Given the description of an element on the screen output the (x, y) to click on. 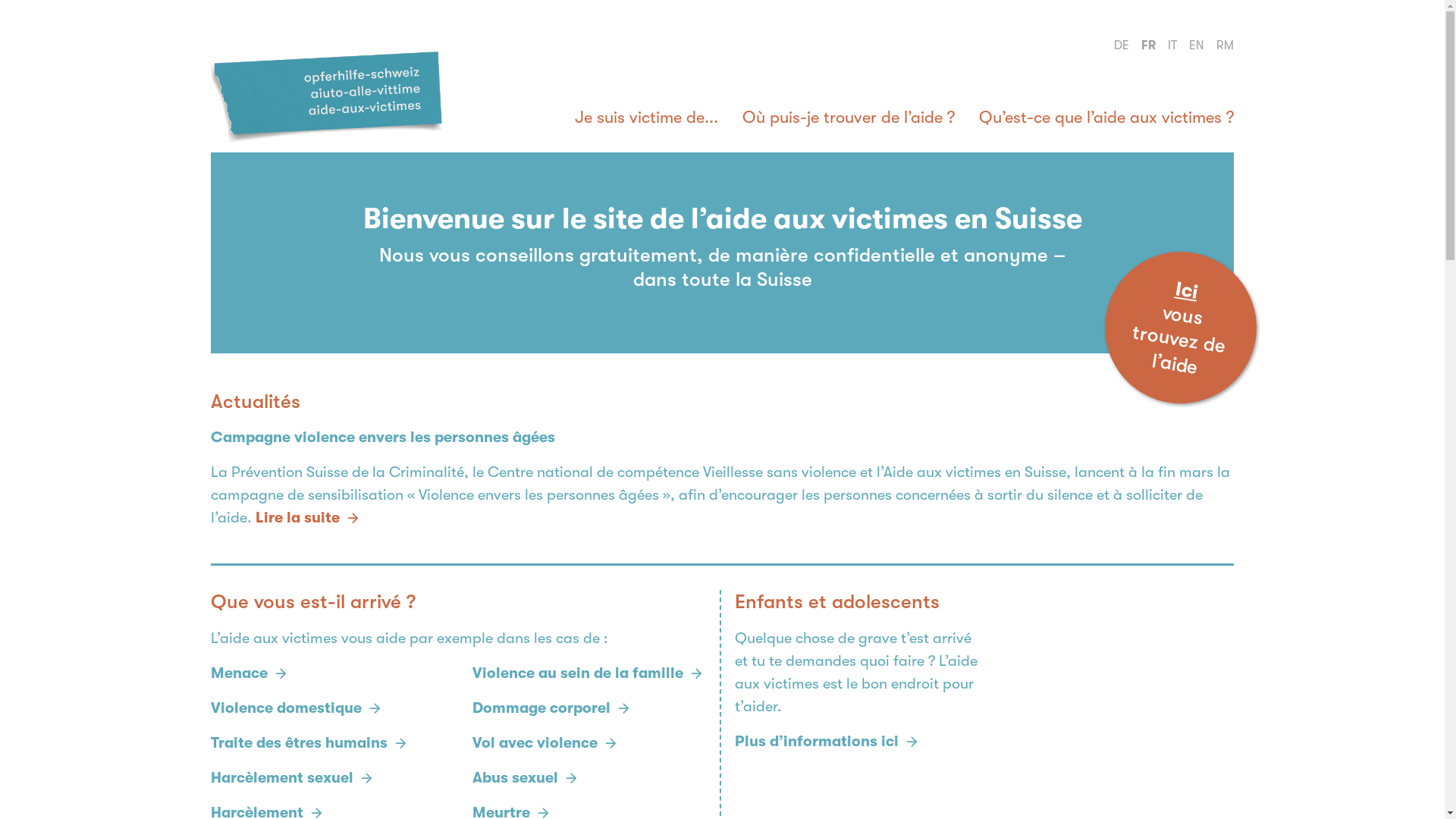
Violence domestique Element type: text (285, 707)
IT Element type: text (1171, 45)
RM Element type: text (1224, 45)
Je suis victime de... Element type: text (646, 118)
DE Element type: text (1121, 45)
Vol avec violence Element type: text (534, 742)
Abus sexuel Element type: text (515, 777)
Dommage corporel Element type: text (541, 707)
Lire la suite Element type: text (297, 517)
EN Element type: text (1196, 45)
FR Element type: text (1148, 45)
Violence au sein de la famille Element type: text (577, 672)
Menace Element type: text (238, 672)
